Given the description of an element on the screen output the (x, y) to click on. 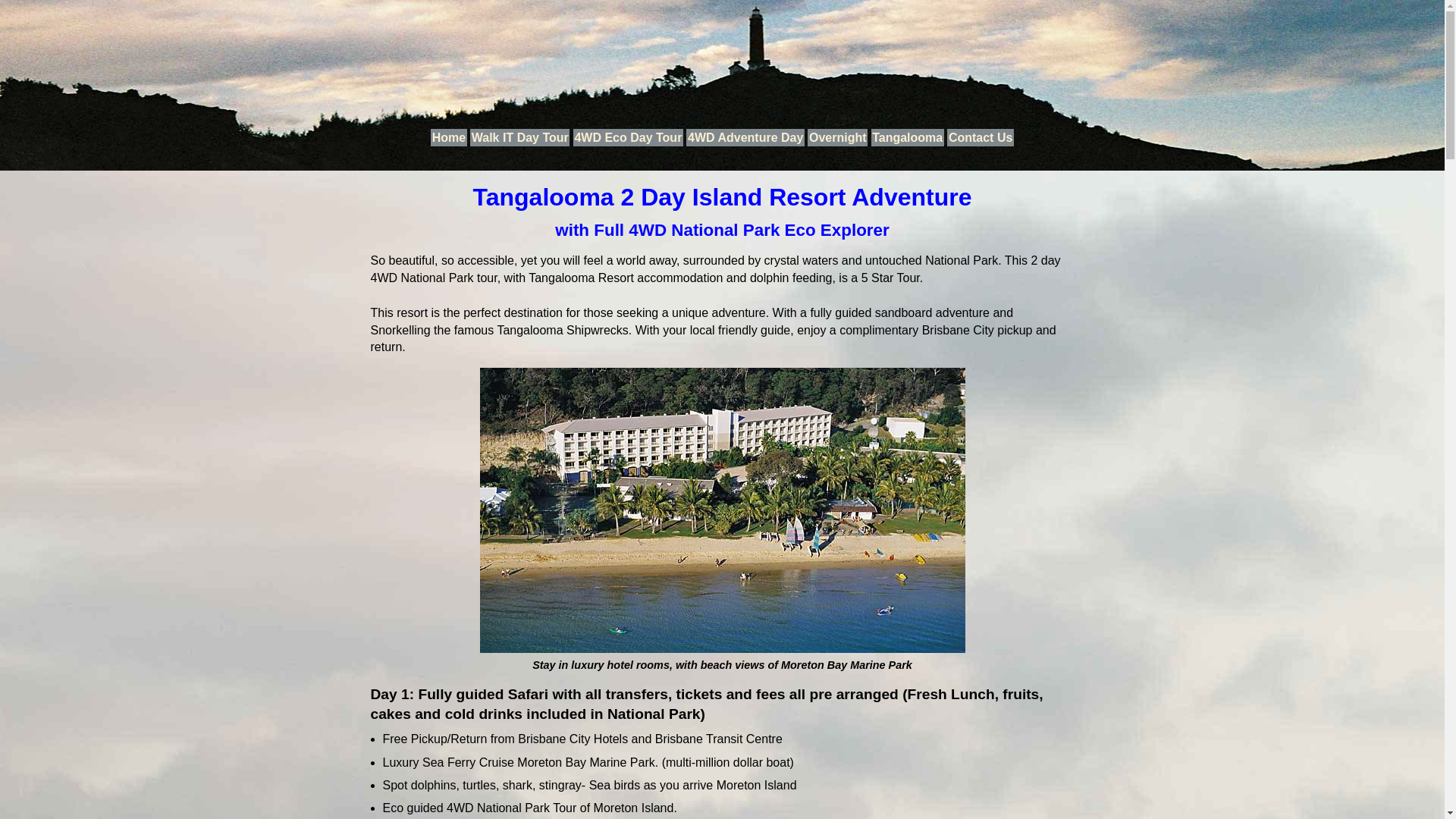
Tangalooma Element type: text (907, 137)
Tangalooma Resort Element type: hover (721, 509)
Overnight Element type: text (837, 137)
4WD Eco Day Tour Element type: text (628, 137)
Walk IT Day Tour Element type: text (519, 137)
4WD Adventure Day Element type: text (745, 137)
Home Element type: text (448, 137)
Contact Us Element type: text (980, 137)
